Given the description of an element on the screen output the (x, y) to click on. 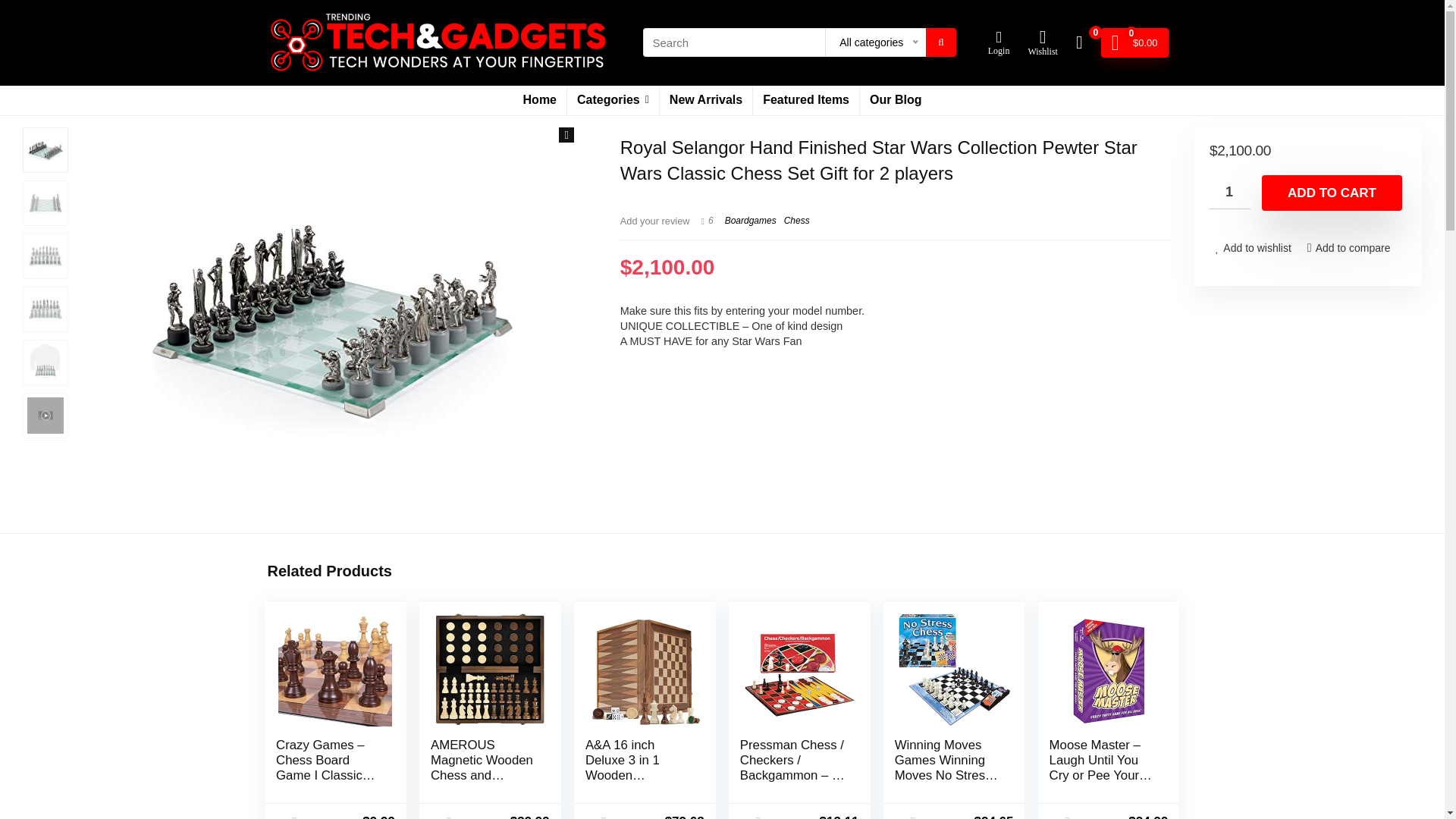
Home (539, 100)
Categories (613, 100)
View all posts in Chess (796, 220)
Add your review (655, 220)
1 (1229, 192)
View all posts in Boardgames (750, 220)
